Given the description of an element on the screen output the (x, y) to click on. 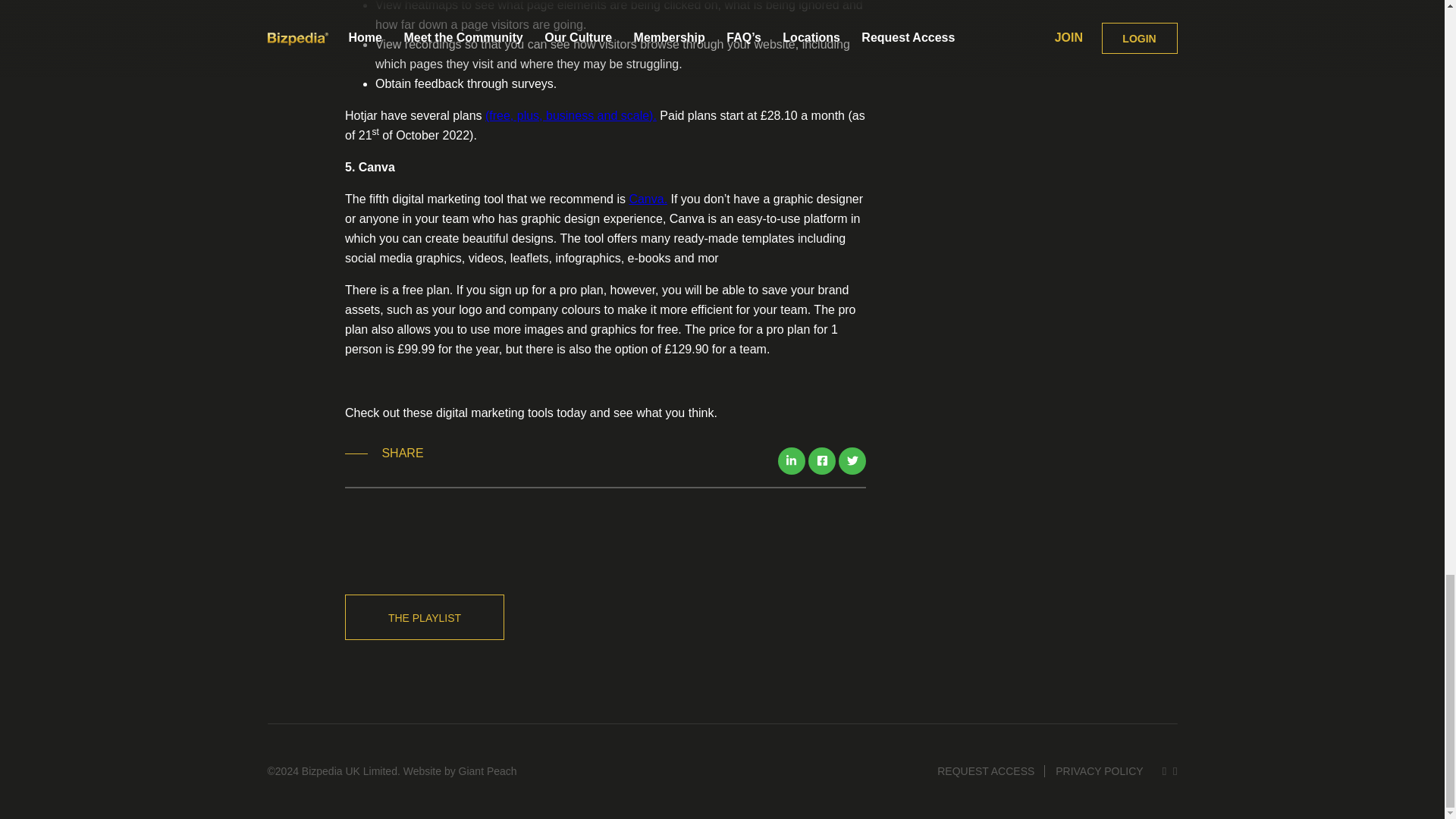
REQUEST ACCESS (985, 770)
PRIVACY POLICY (1099, 770)
Website by Giant Peach (459, 770)
THE PLAYLIST (424, 616)
Canva. (647, 198)
